Given the description of an element on the screen output the (x, y) to click on. 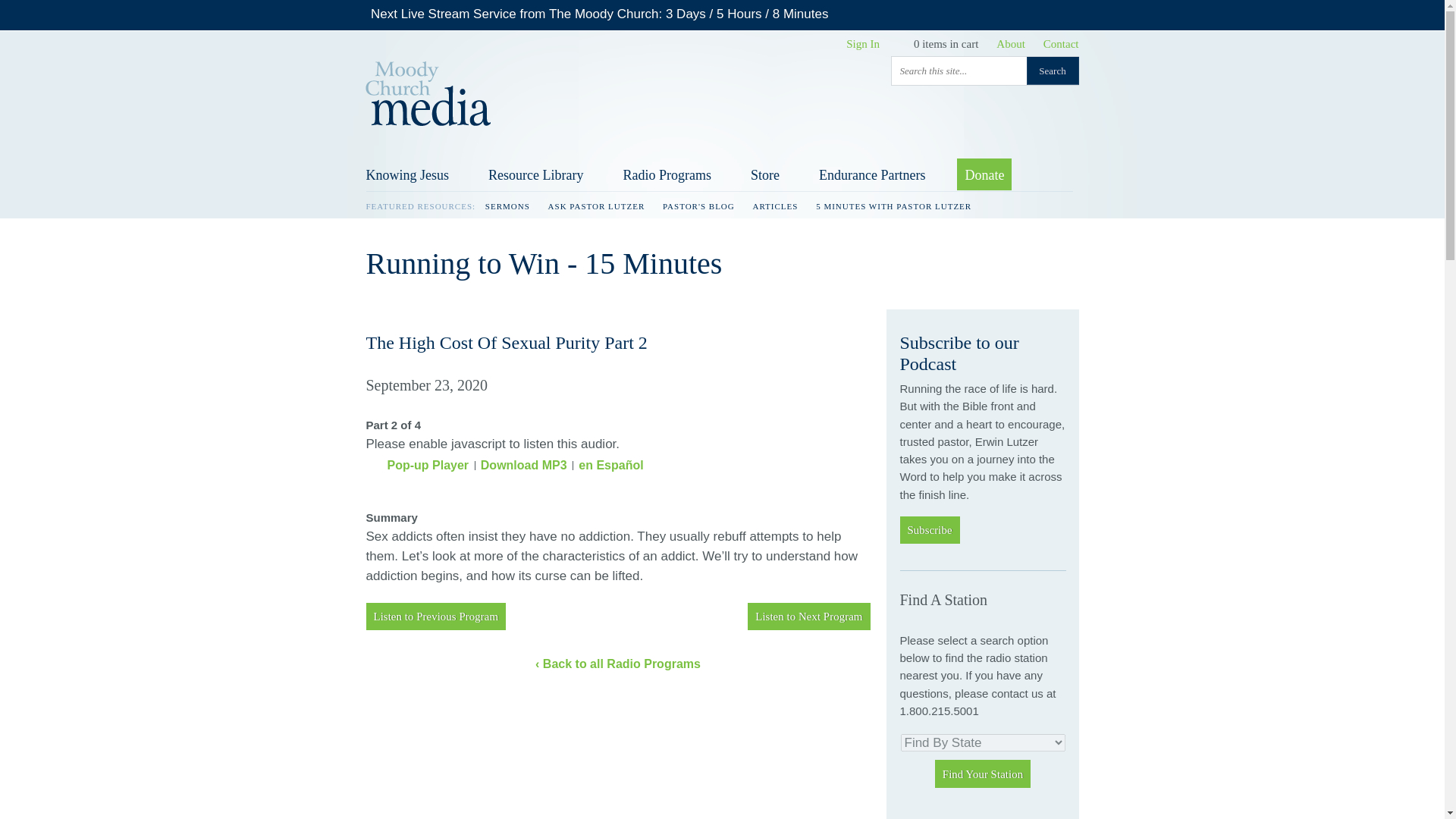
Broadcaster Info (940, 816)
Back to all Radio Programs (617, 664)
Watch Online (727, 13)
Listen to Next Program (808, 615)
Pop-up Player (416, 464)
Sign In (862, 43)
Find Your Station (982, 773)
Search this site... (958, 70)
Find Your Station (982, 773)
Listen to Previous Program (435, 615)
Download MP3 (523, 464)
About (1010, 43)
Search (1052, 70)
Podcasts (1027, 816)
Subscribe (929, 529)
